Given the description of an element on the screen output the (x, y) to click on. 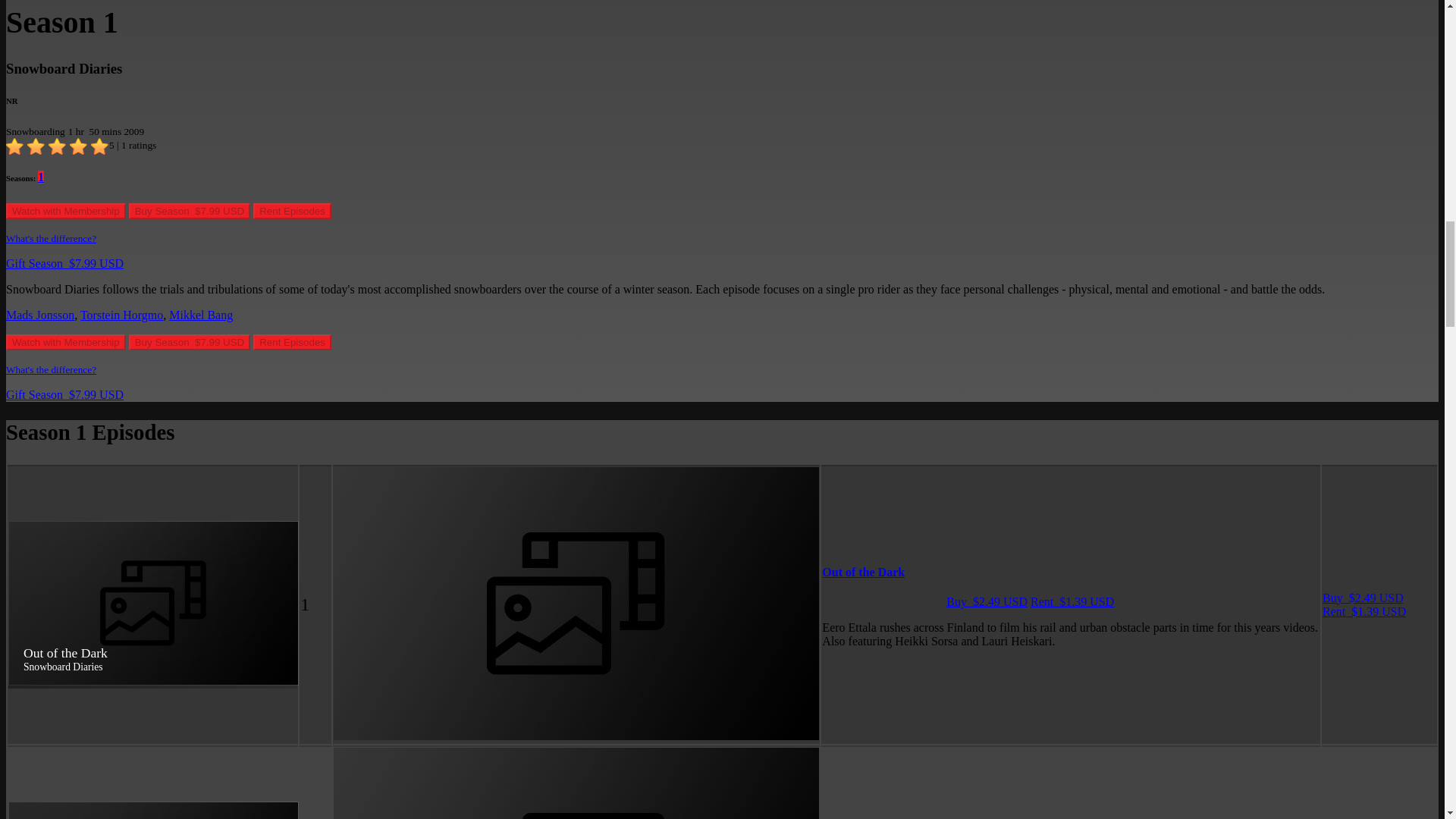
hated it (14, 147)
Rent Episodes (292, 211)
really like it (78, 147)
loved it (99, 147)
Out of the Dark (863, 571)
Watch with Membership (65, 211)
didn't like it (36, 147)
Mads Jonsson (39, 314)
liked it (57, 147)
What's the difference? (50, 238)
Torstein Horgmo (121, 314)
